Given the description of an element on the screen output the (x, y) to click on. 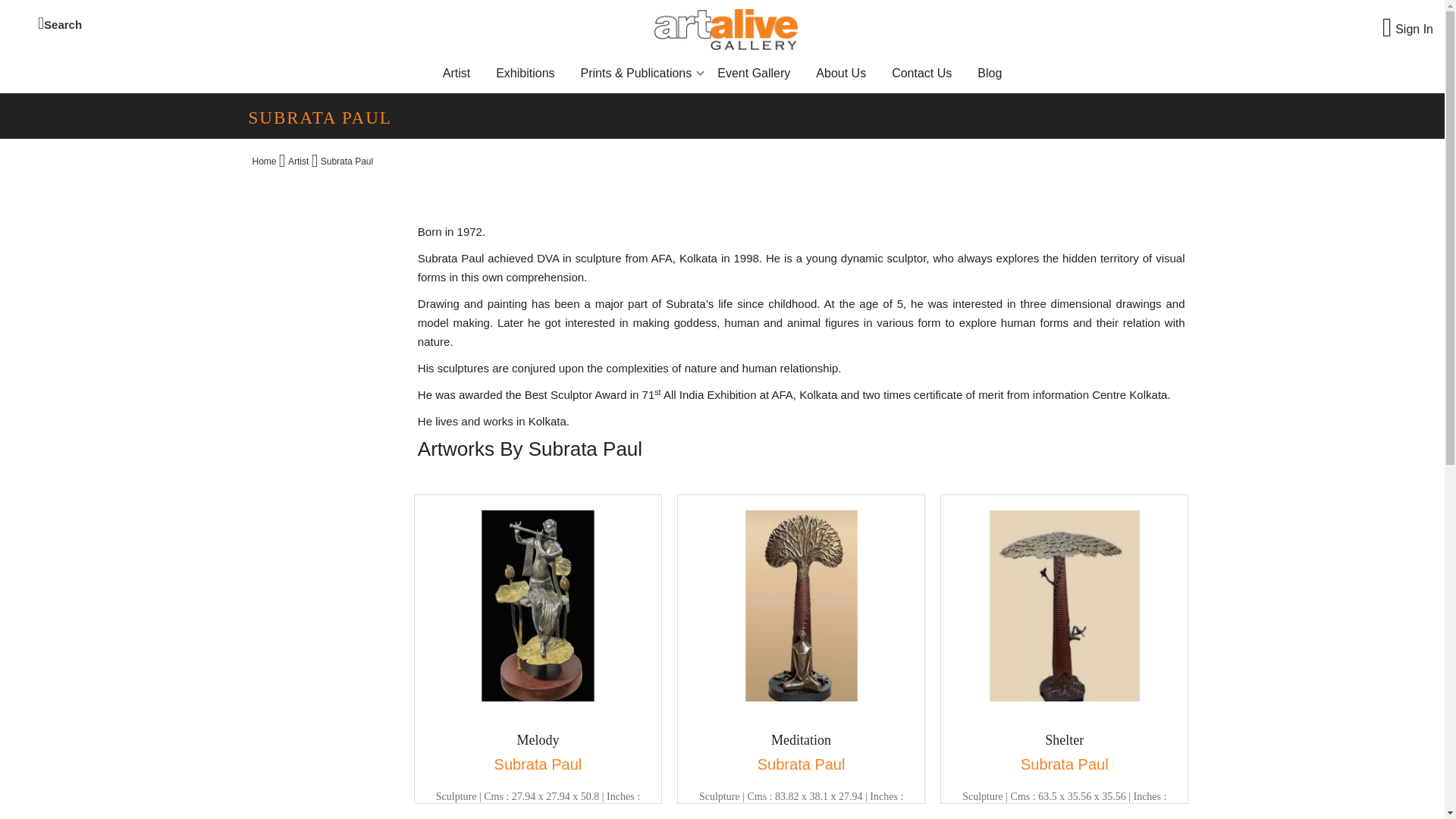
Home (263, 161)
Artist (456, 73)
Melody (537, 740)
Sign In (1406, 30)
Shelter (1064, 740)
Meditation (801, 740)
Contact Us (921, 73)
Go to Home Page (263, 161)
Artist (298, 161)
About Us (840, 73)
Exhibitions (524, 73)
Blog (989, 73)
Event Gallery (753, 73)
